Given the description of an element on the screen output the (x, y) to click on. 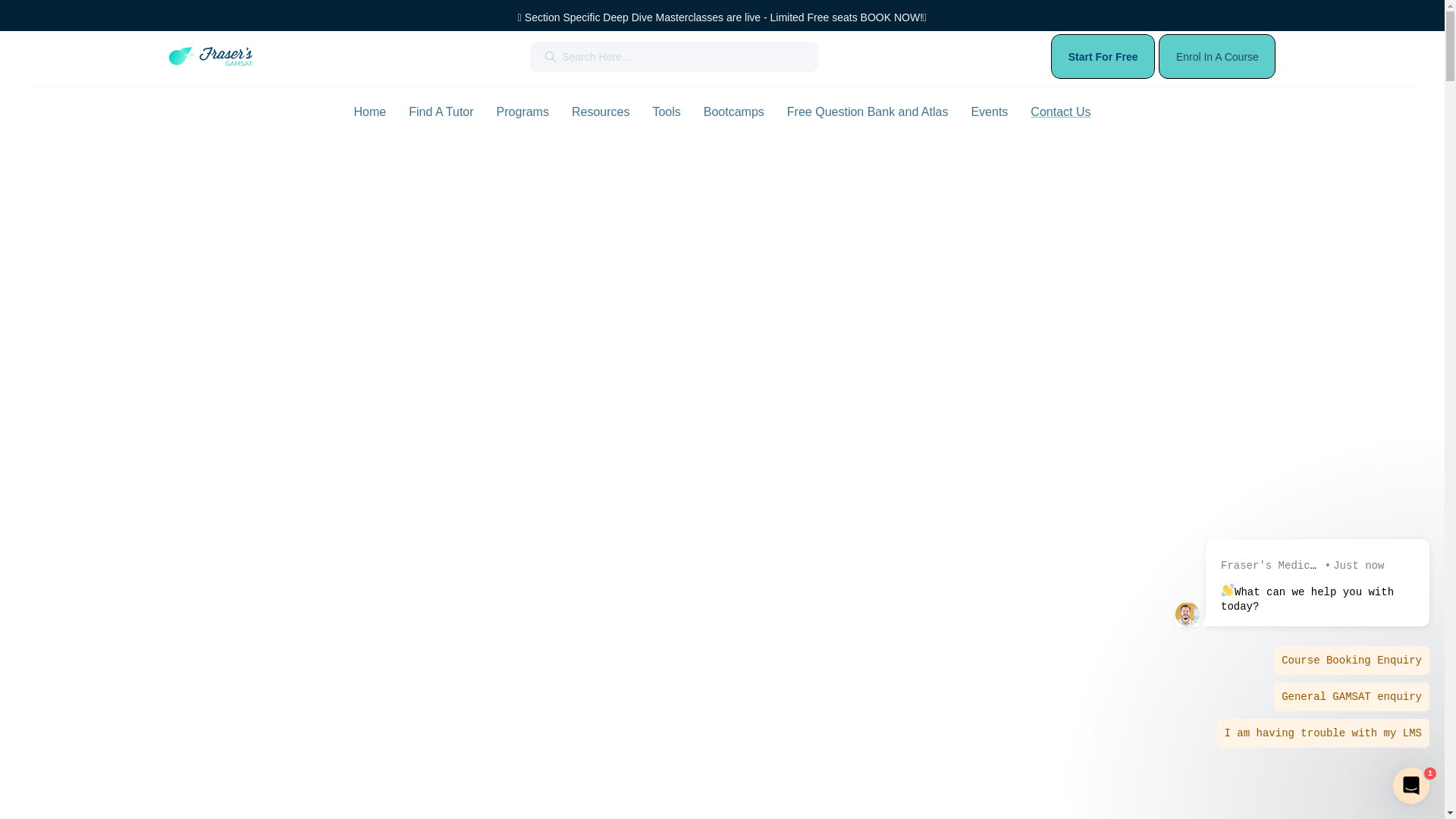
Home Element type: text (370, 112)
Find A Tutor Element type: text (440, 112)
Intercom live chat message Element type: hover (1300, 642)
Start For Free Element type: text (1102, 56)
Resources Element type: text (600, 112)
Free Question Bank and Atlas Element type: text (867, 112)
Intercom live chat Element type: hover (1411, 785)
Tools Element type: text (666, 112)
Events Element type: text (988, 112)
Bootcamps Element type: text (733, 112)
Enrol In A Course Element type: text (1216, 56)
Contact Us Element type: text (1060, 110)
